Given the description of an element on the screen output the (x, y) to click on. 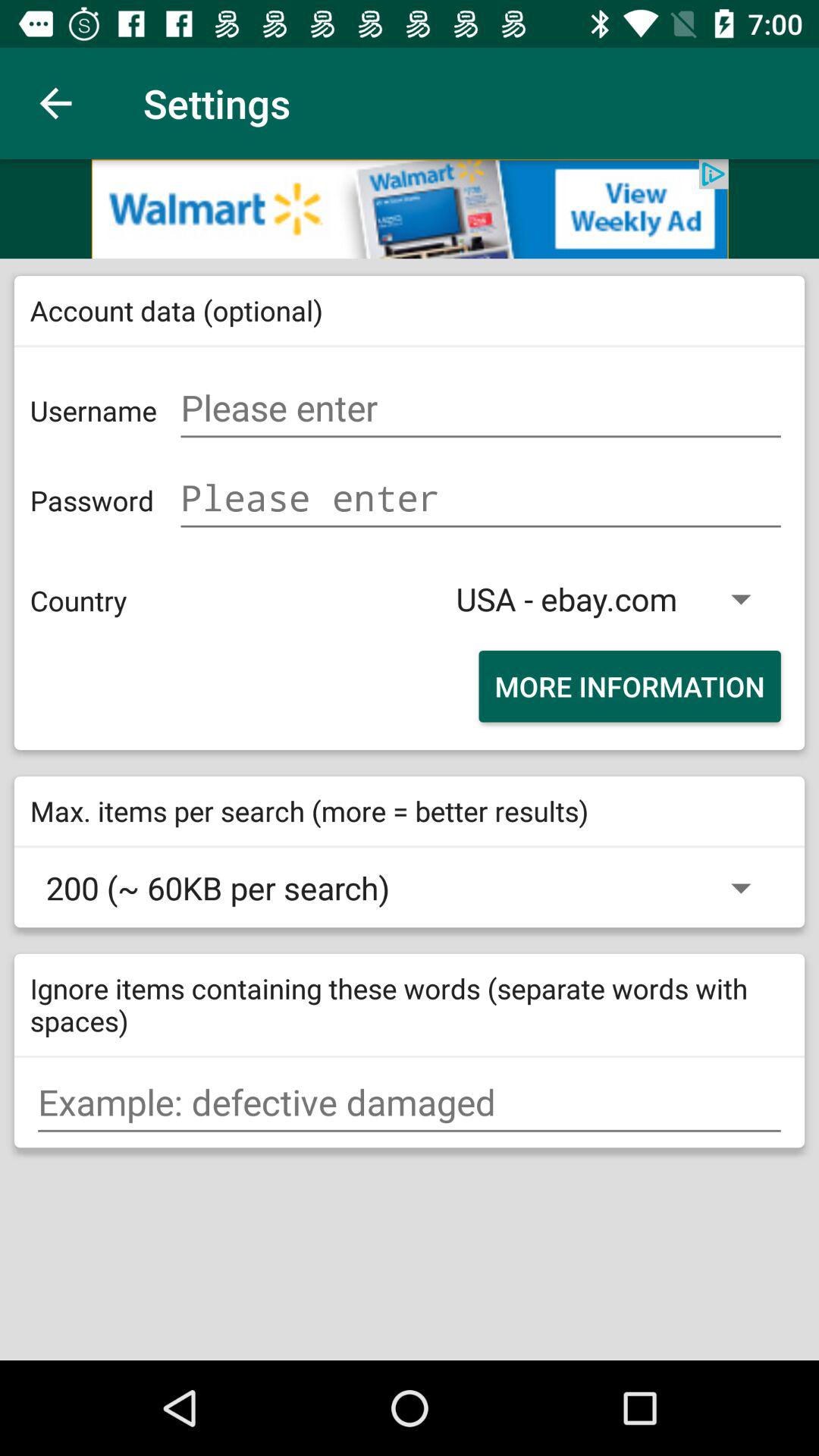
add banner (409, 208)
